Given the description of an element on the screen output the (x, y) to click on. 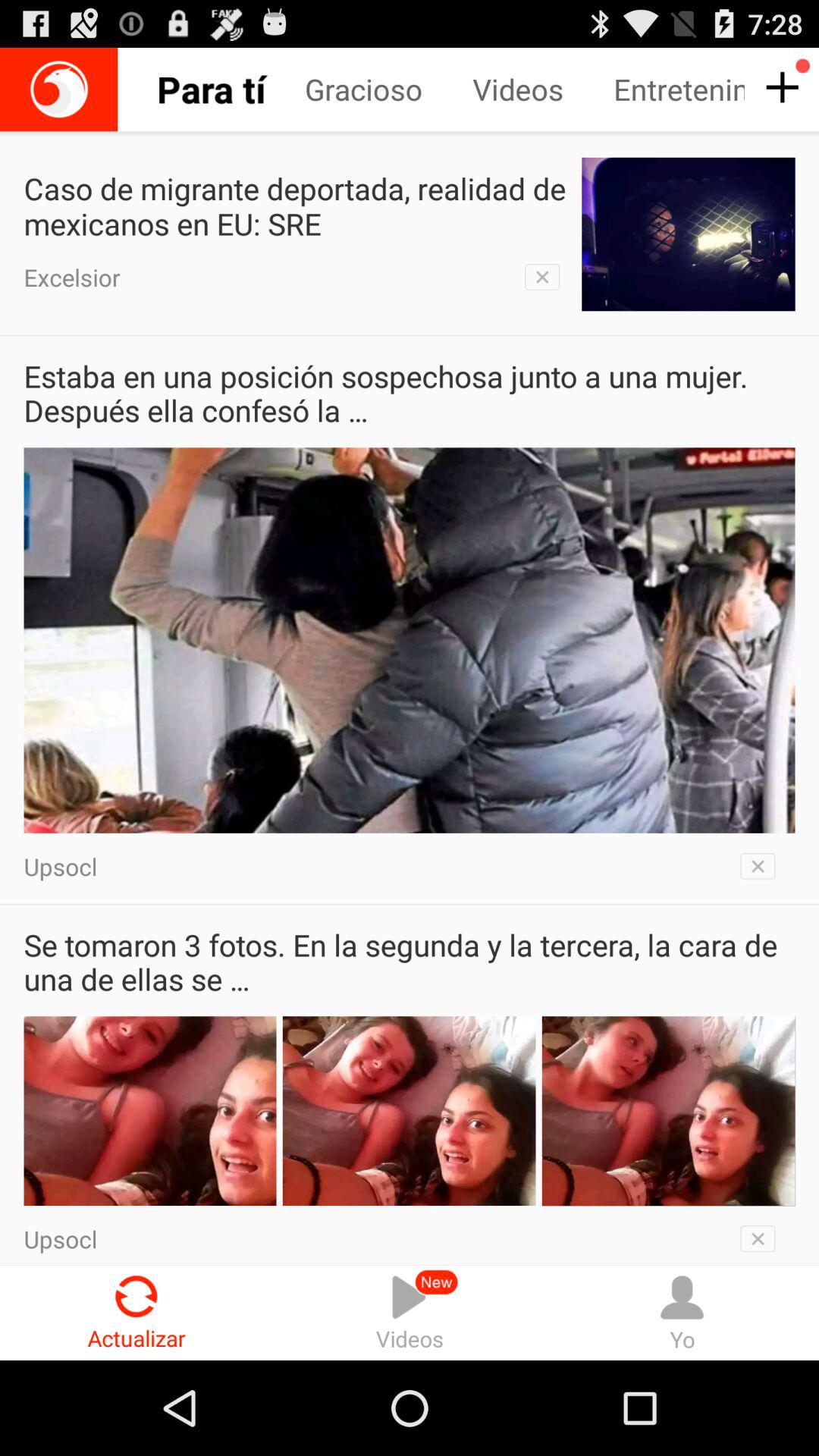
select item next to the videos (678, 89)
